Given the description of an element on the screen output the (x, y) to click on. 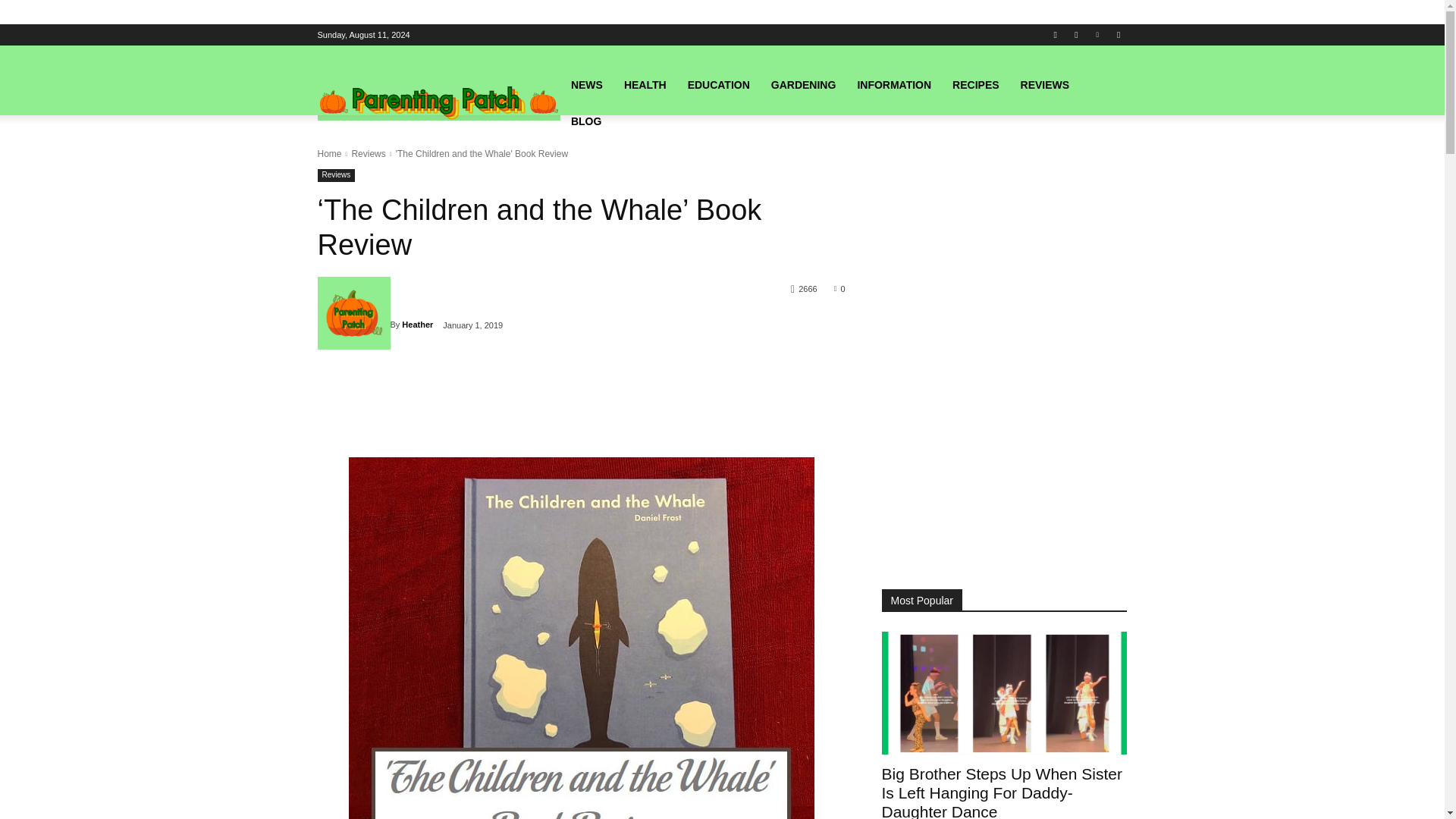
Heather (416, 323)
REVIEWS (1045, 84)
INFORMATION (893, 84)
Reviews (336, 174)
Instagram (1075, 34)
Reviews (367, 153)
Parenting Patch Logo (438, 102)
NEWS (586, 84)
HEALTH (644, 84)
Twitter (1117, 34)
